Given the description of an element on the screen output the (x, y) to click on. 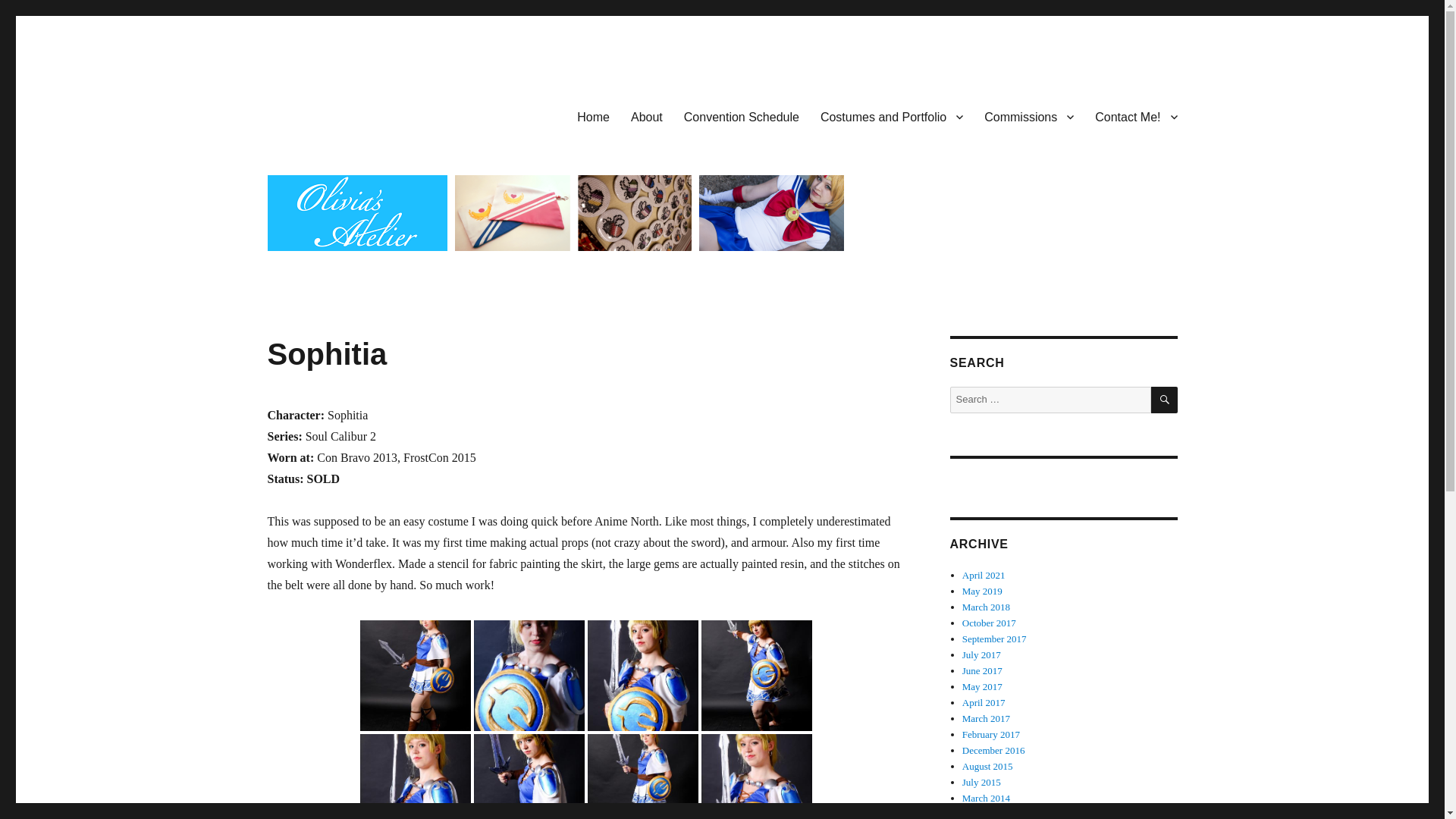
Elemental (755, 762)
SEARCH (1164, 399)
September 2017 (994, 638)
Elemental (528, 762)
About (646, 116)
May 2019 (982, 591)
Contact Me! (1136, 116)
Elemental (641, 762)
April 2021 (984, 574)
October 2017 (989, 622)
Home (593, 116)
Contact Me! (1136, 116)
Olivia's Atelier (339, 114)
About (646, 116)
Costumes and Portfolio (891, 116)
